Given the description of an element on the screen output the (x, y) to click on. 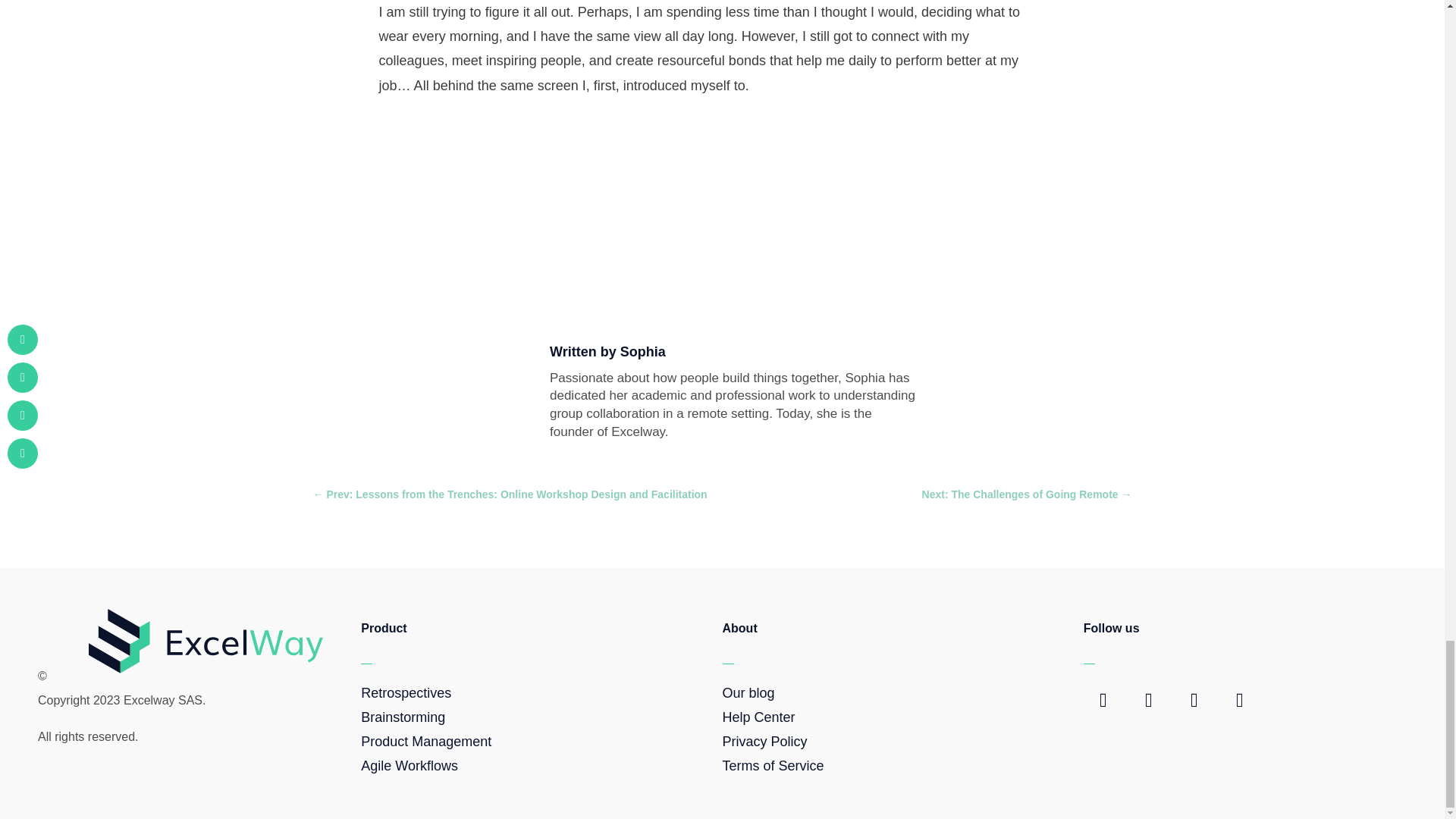
Sophia (642, 351)
Follow on Instagram (1239, 700)
Follow on LinkedIn (1194, 700)
Follow on Facebook (1102, 700)
Follow on X (1149, 700)
